Given the description of an element on the screen output the (x, y) to click on. 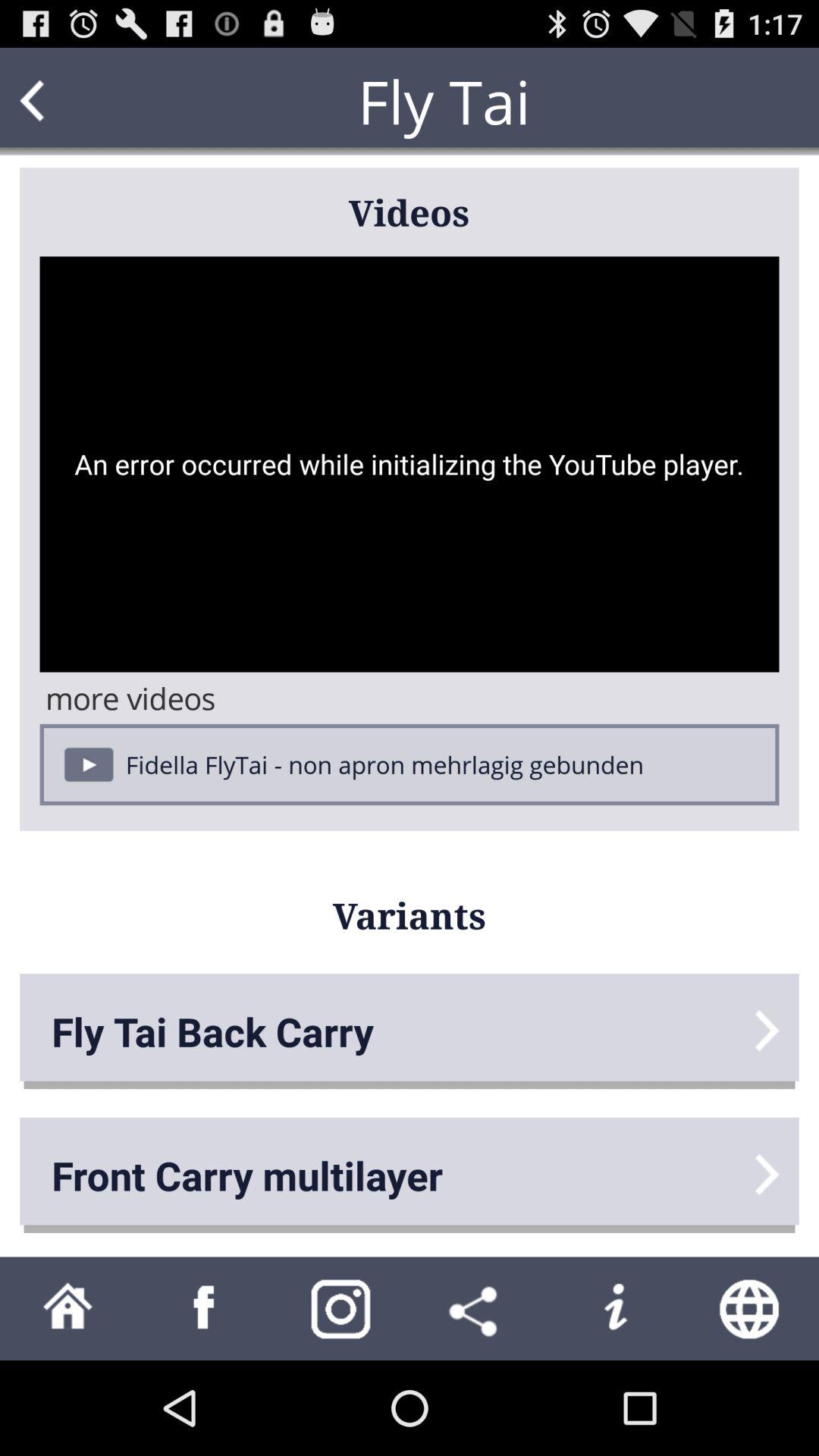
information (614, 1308)
